Given the description of an element on the screen output the (x, y) to click on. 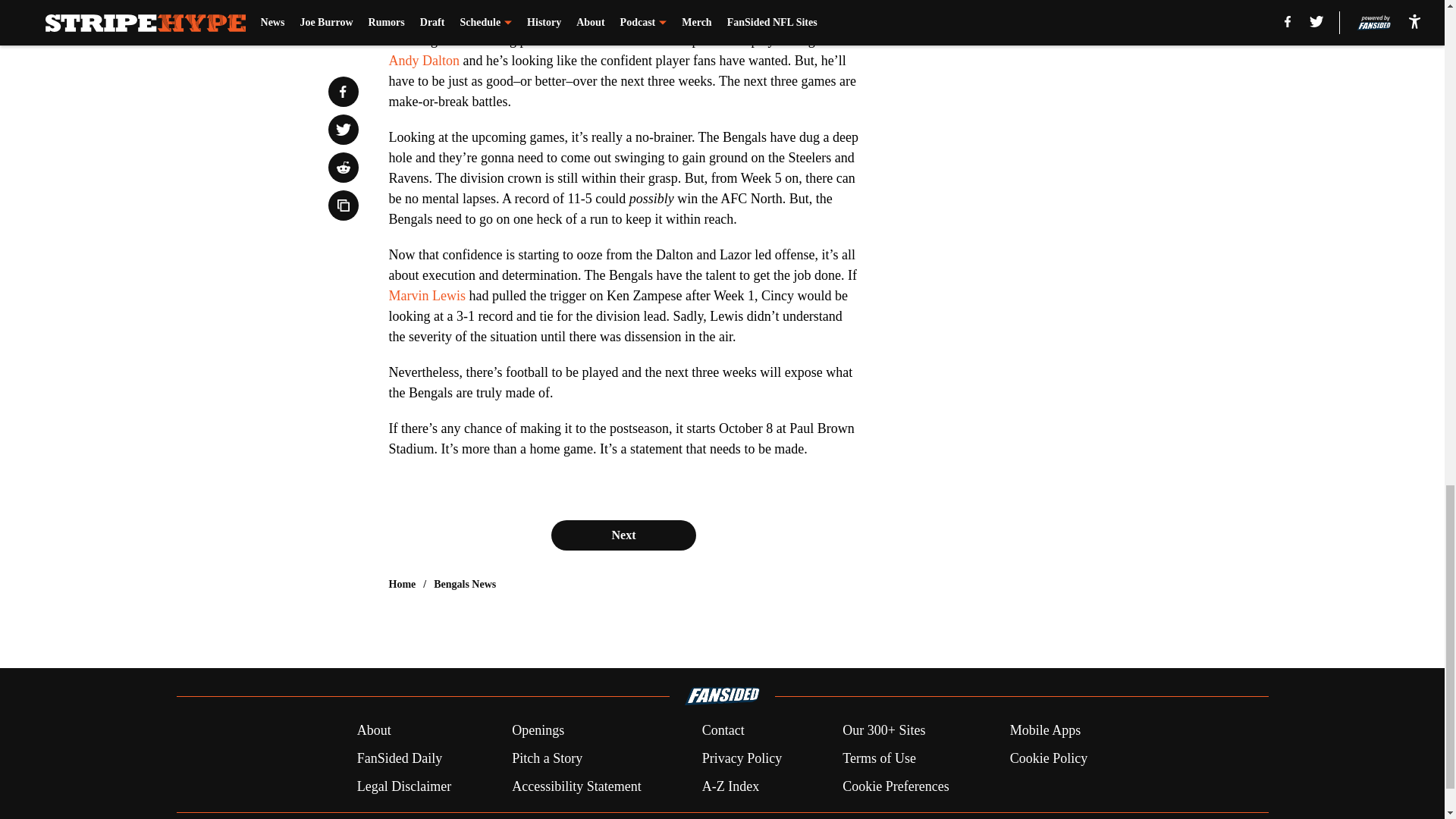
under Bill Lazor (601, 39)
Mobile Apps (1045, 730)
Marvin Lewis (426, 295)
Openings (538, 730)
Home (401, 584)
Privacy Policy (742, 758)
Andy Dalton (424, 60)
FanSided Daily (399, 758)
About (373, 730)
Contact (722, 730)
